Given the description of an element on the screen output the (x, y) to click on. 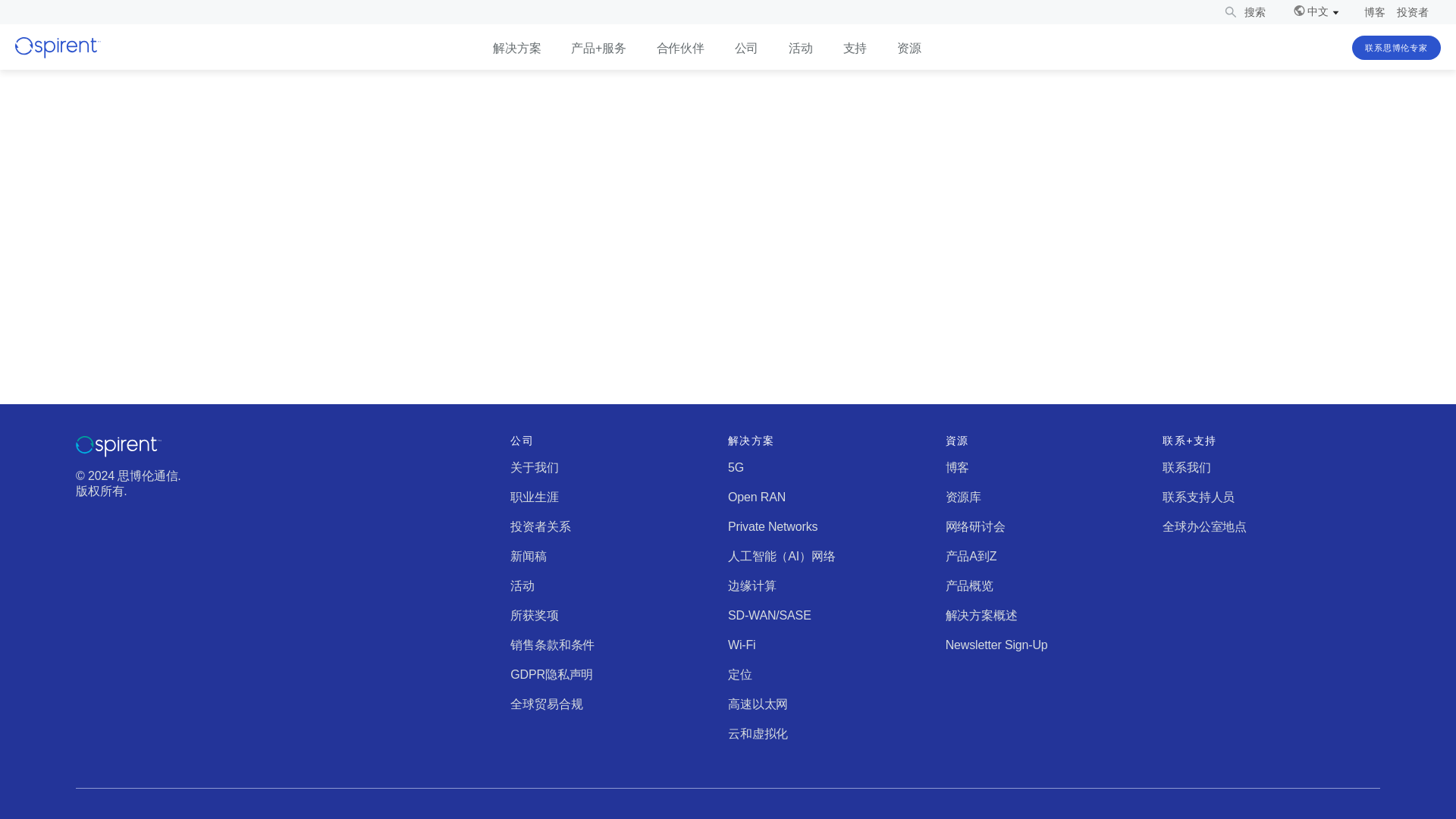
Open RAN (757, 496)
Wi-Fi (741, 644)
5G (736, 467)
Private Networks (772, 526)
